Given the description of an element on the screen output the (x, y) to click on. 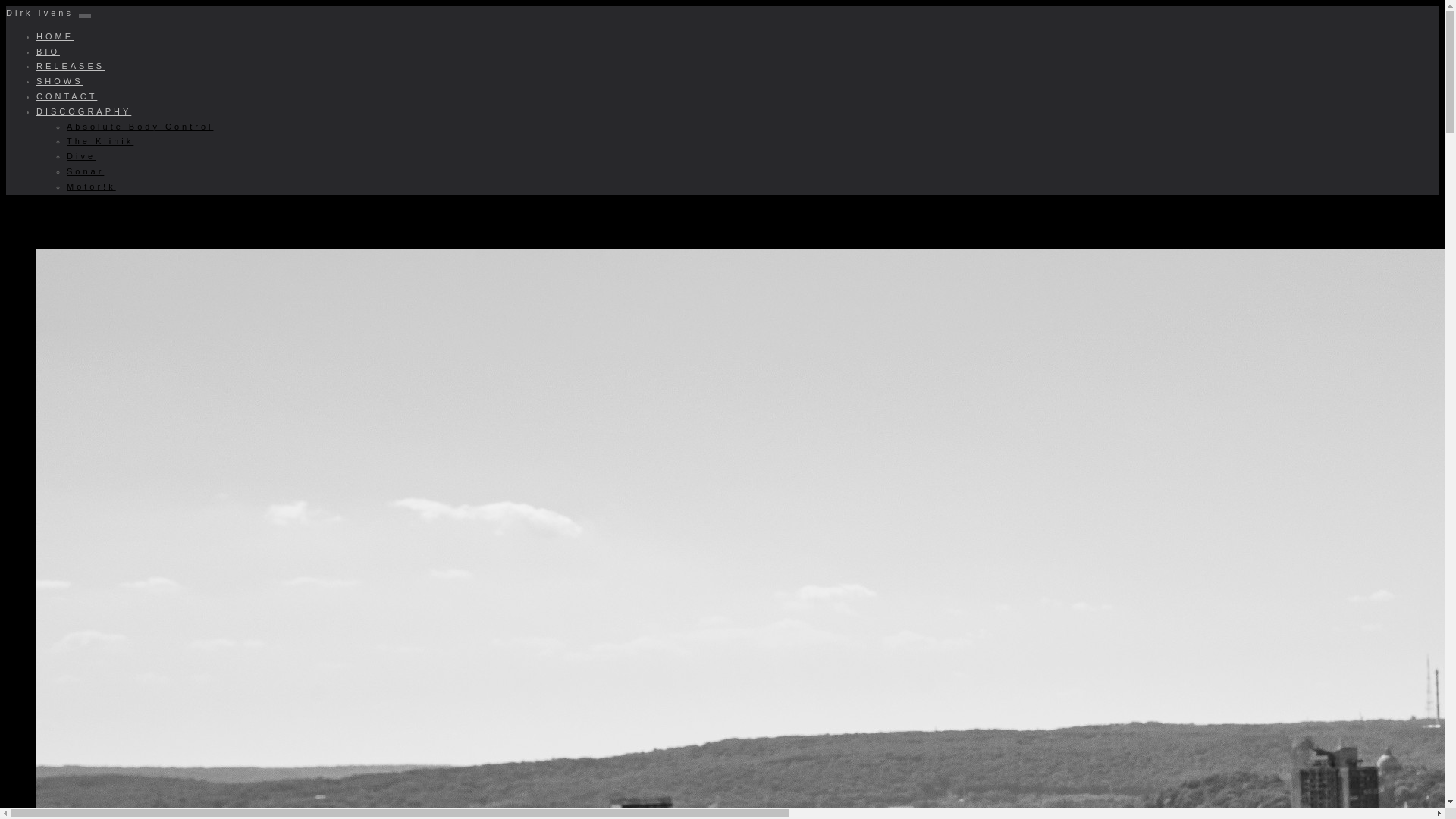
RELEASES (70, 65)
CONTACT (66, 95)
BIO (47, 51)
Sonar (84, 171)
Dive (81, 155)
The Klinik (99, 140)
DISCOGRAPHY (83, 111)
SHOWS (59, 80)
HOME (55, 35)
Motor!k (91, 185)
Absolute Body Control (139, 126)
